Given the description of an element on the screen output the (x, y) to click on. 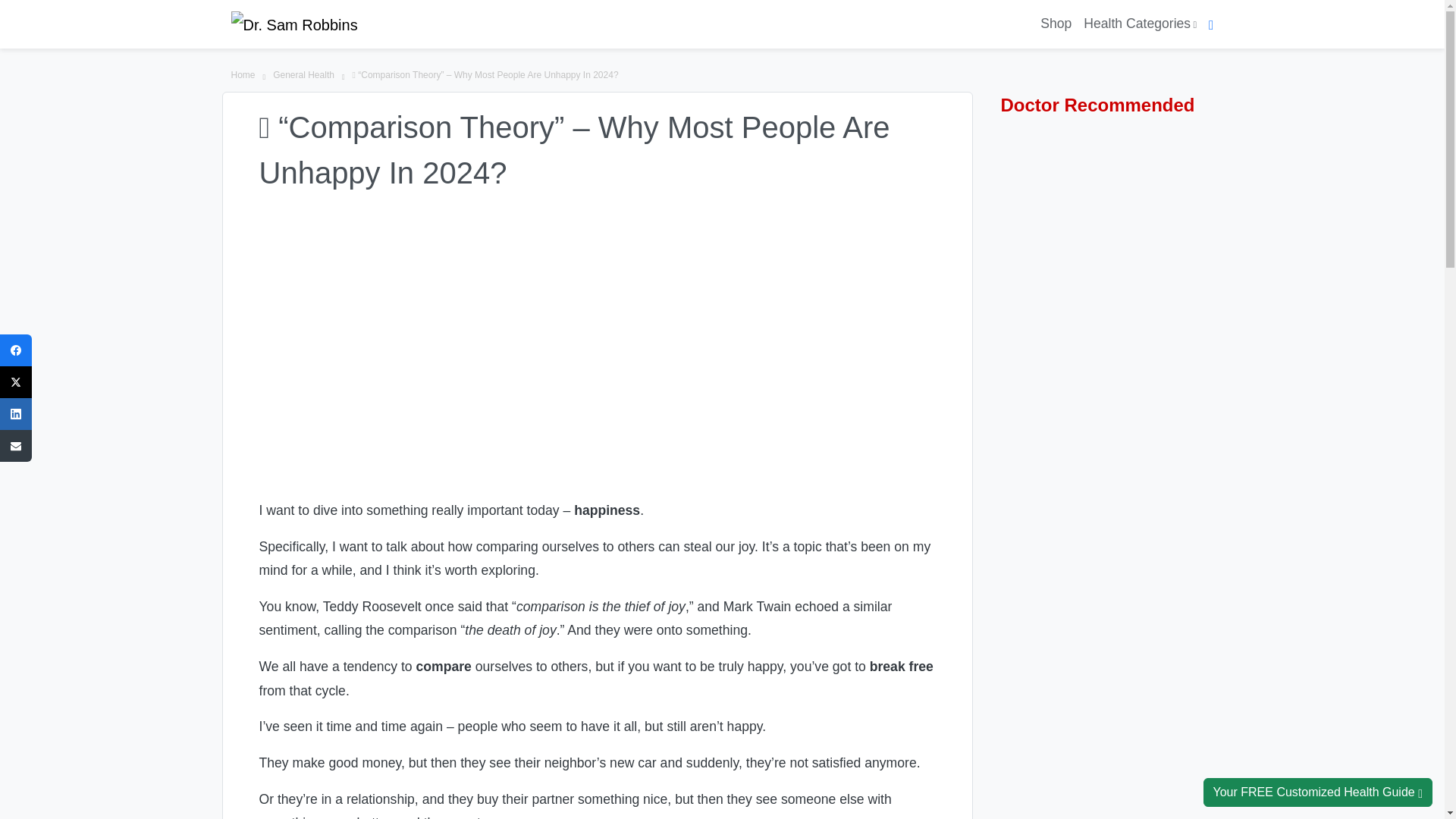
Home (242, 76)
General Health (303, 76)
Shop (1055, 23)
View all posts in General Health (303, 76)
Your FREE Customized Health Guide (1317, 792)
Health Categories (1139, 23)
